Given the description of an element on the screen output the (x, y) to click on. 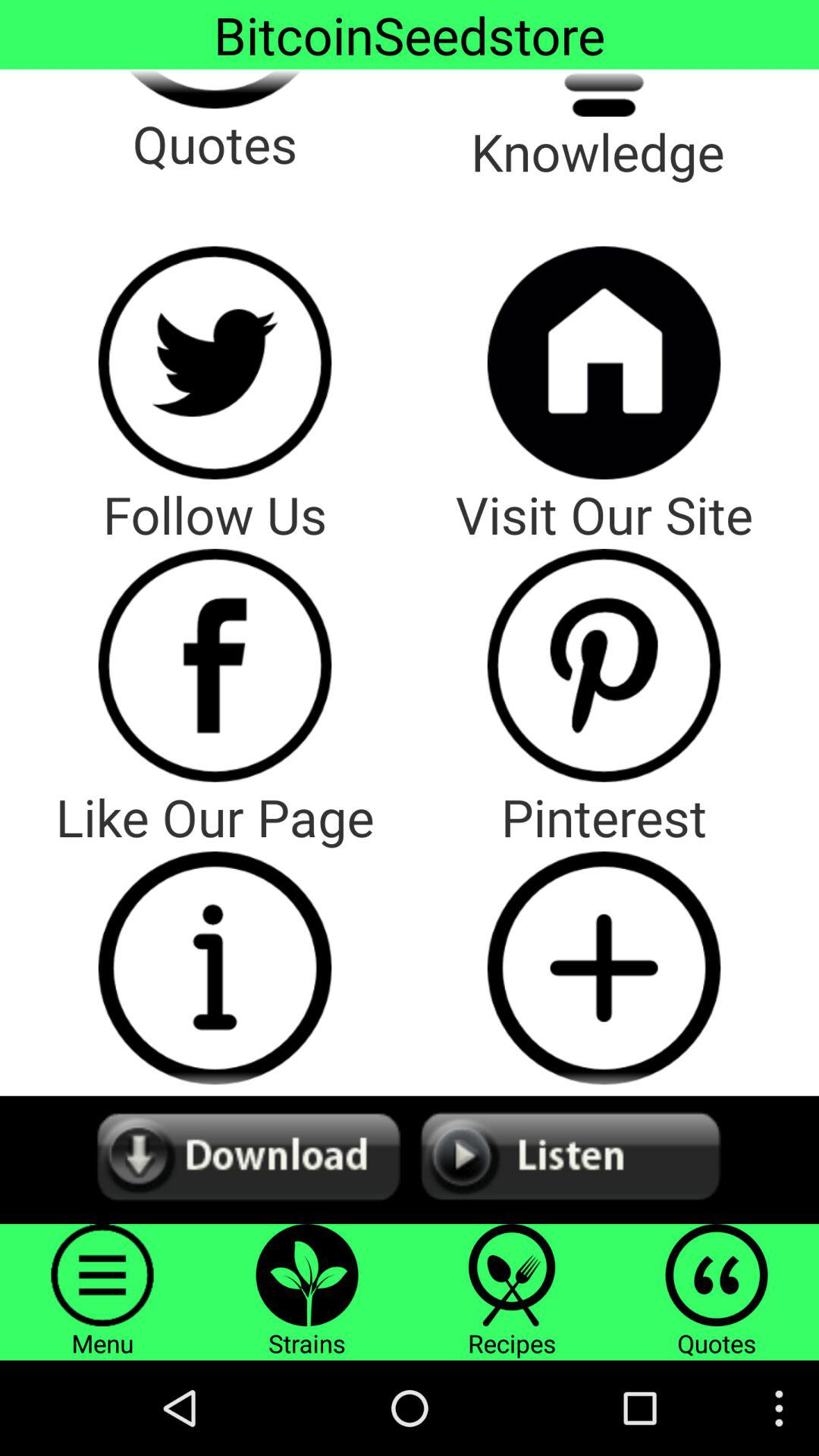
select home page (603, 362)
